Given the description of an element on the screen output the (x, y) to click on. 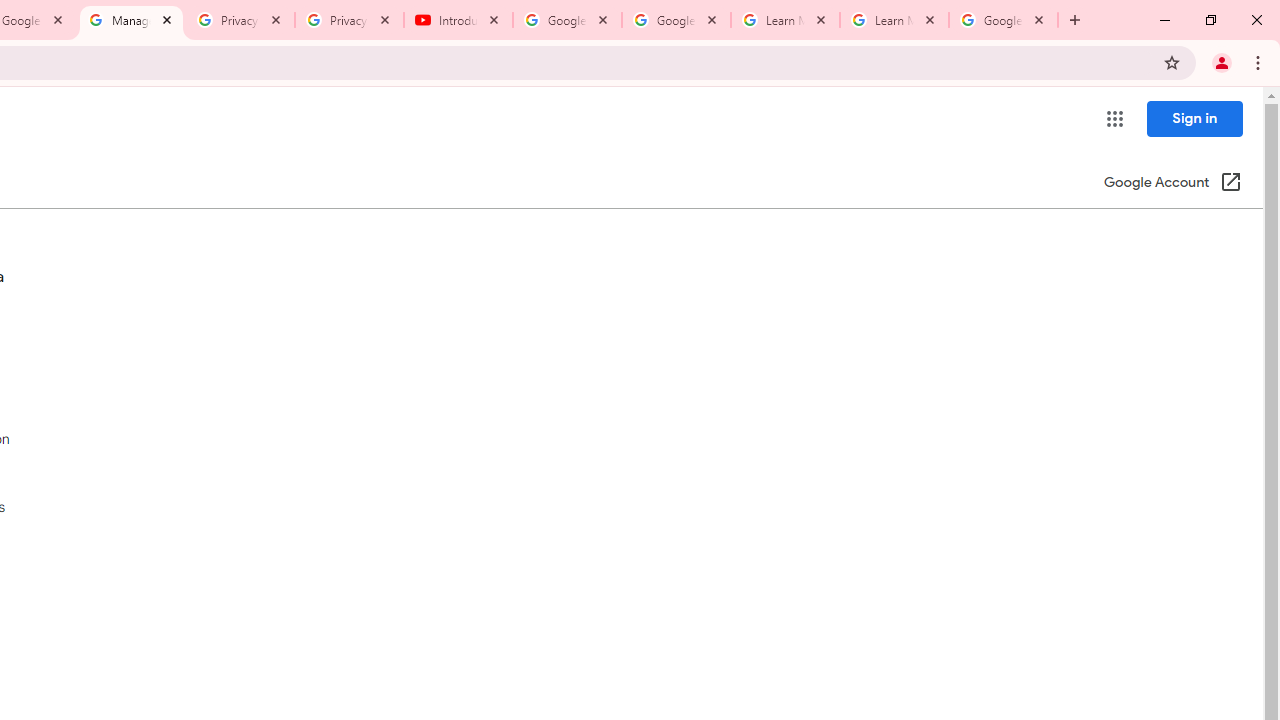
Manage your Location Sharing settings - Google Account Help (130, 20)
Google Account (1003, 20)
Google Account (Open in a new window) (1172, 183)
Introduction | Google Privacy Policy - YouTube (458, 20)
